Given the description of an element on the screen output the (x, y) to click on. 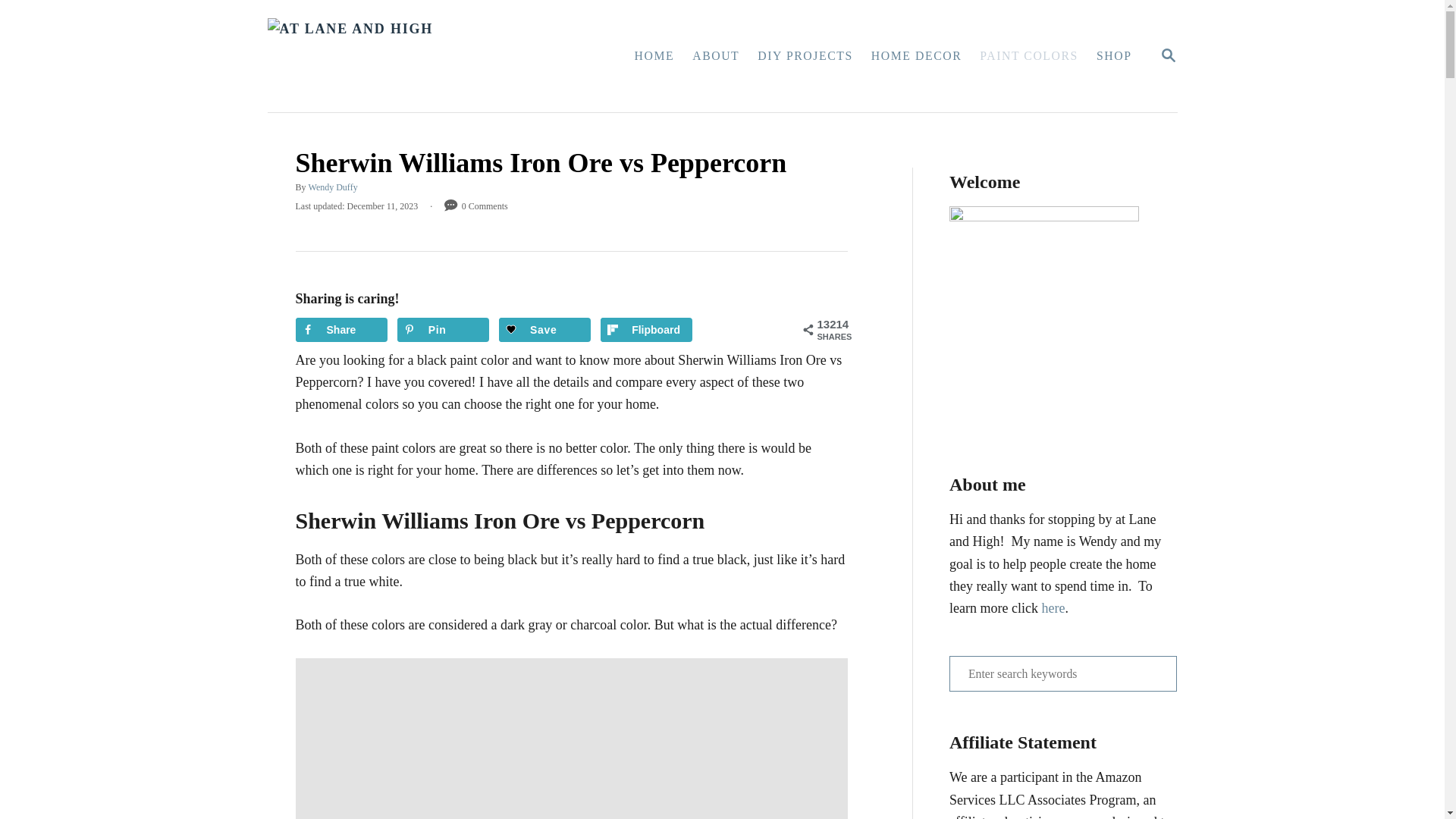
MAGNIFYING GLASS (1167, 54)
Share on Flipboard (646, 329)
DIY PROJECTS (804, 55)
ABOUT (715, 55)
Share on Facebook (341, 329)
Search for: (1167, 55)
At Lane and High (1062, 673)
HOME (412, 56)
HOME DECOR (653, 55)
